Given the description of an element on the screen output the (x, y) to click on. 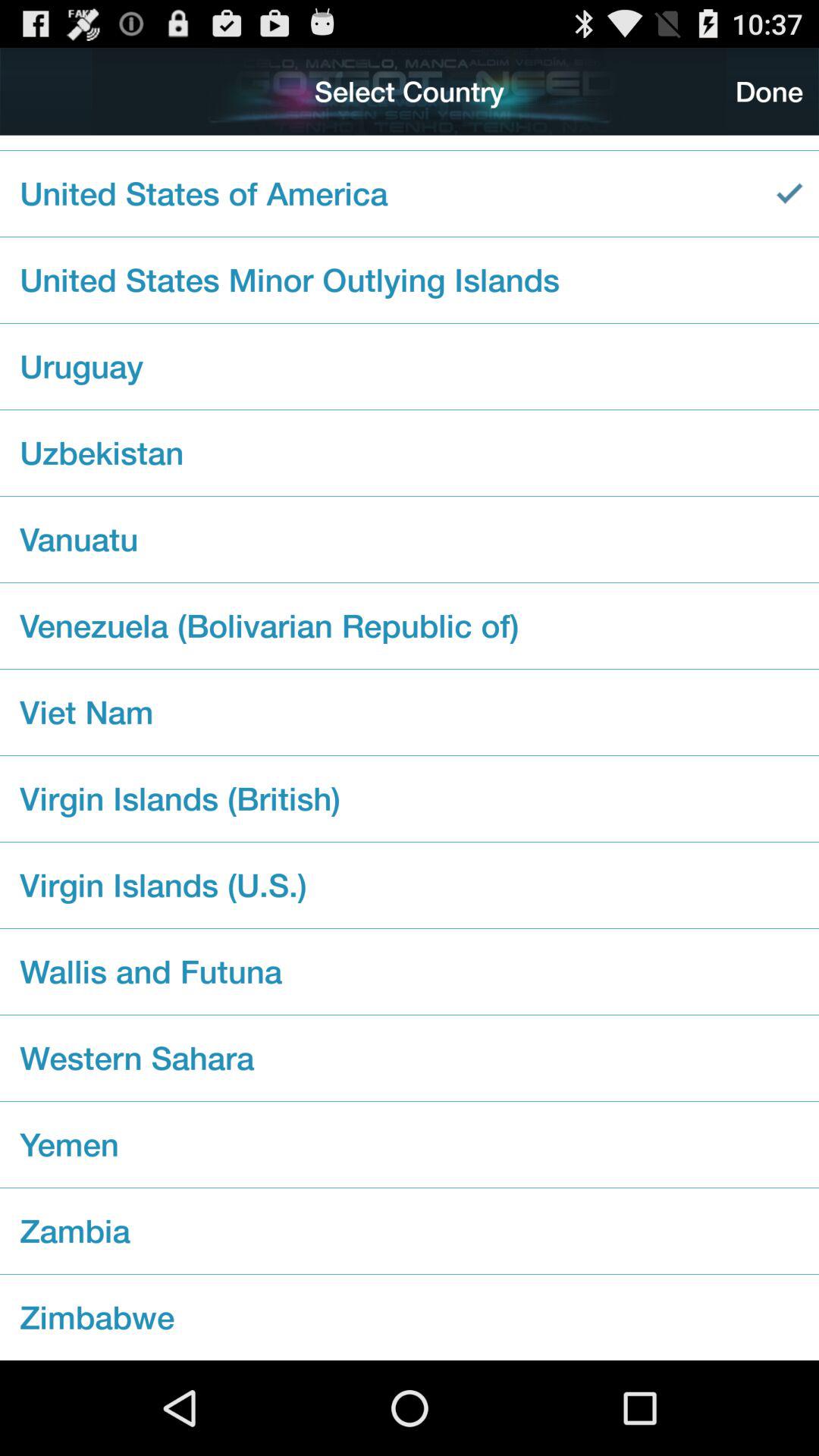
launch the checkbox below the virgin islands u (409, 971)
